Given the description of an element on the screen output the (x, y) to click on. 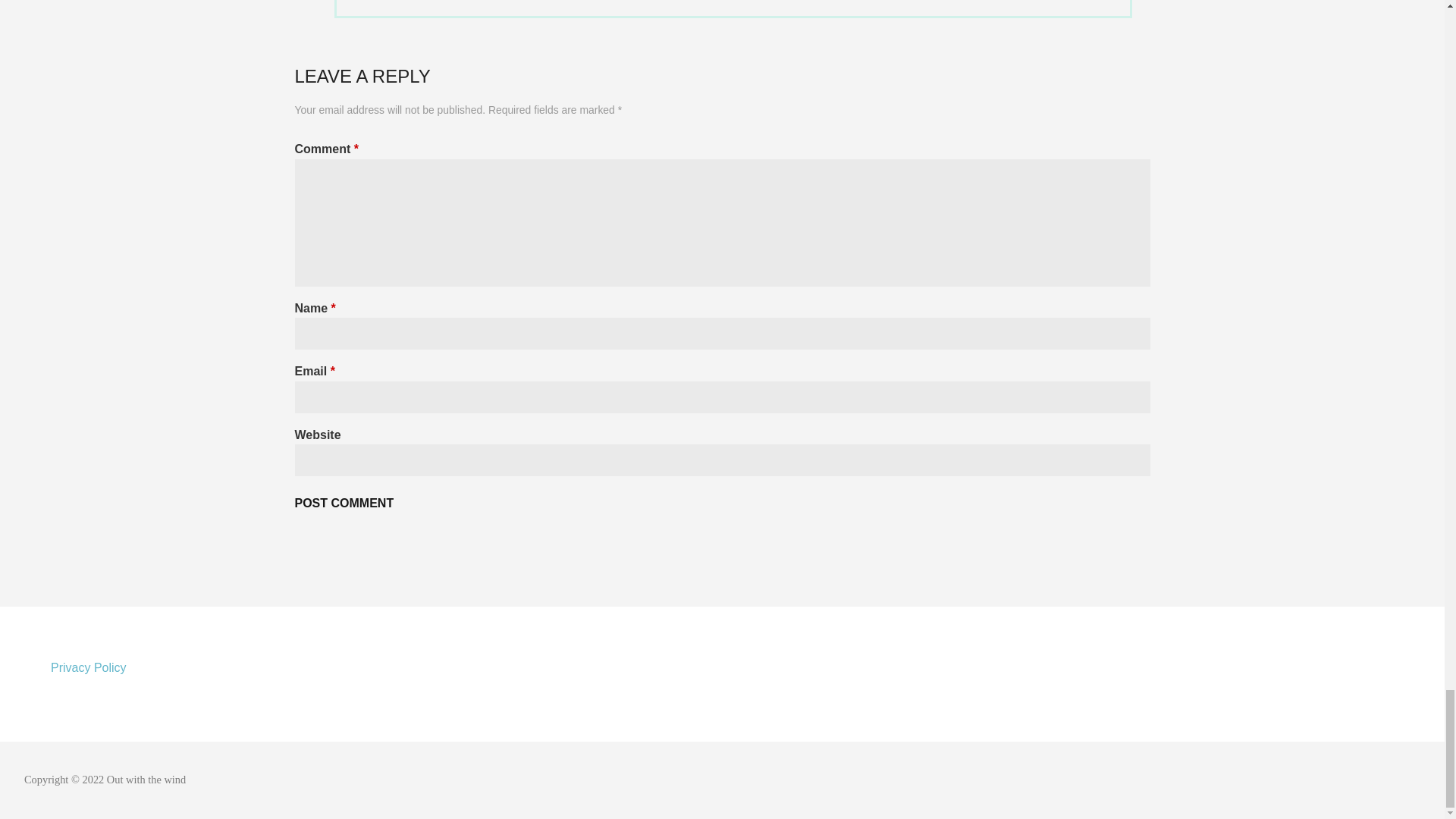
Post Comment (343, 503)
Privacy Policy (88, 667)
Post Comment (343, 503)
